Given the description of an element on the screen output the (x, y) to click on. 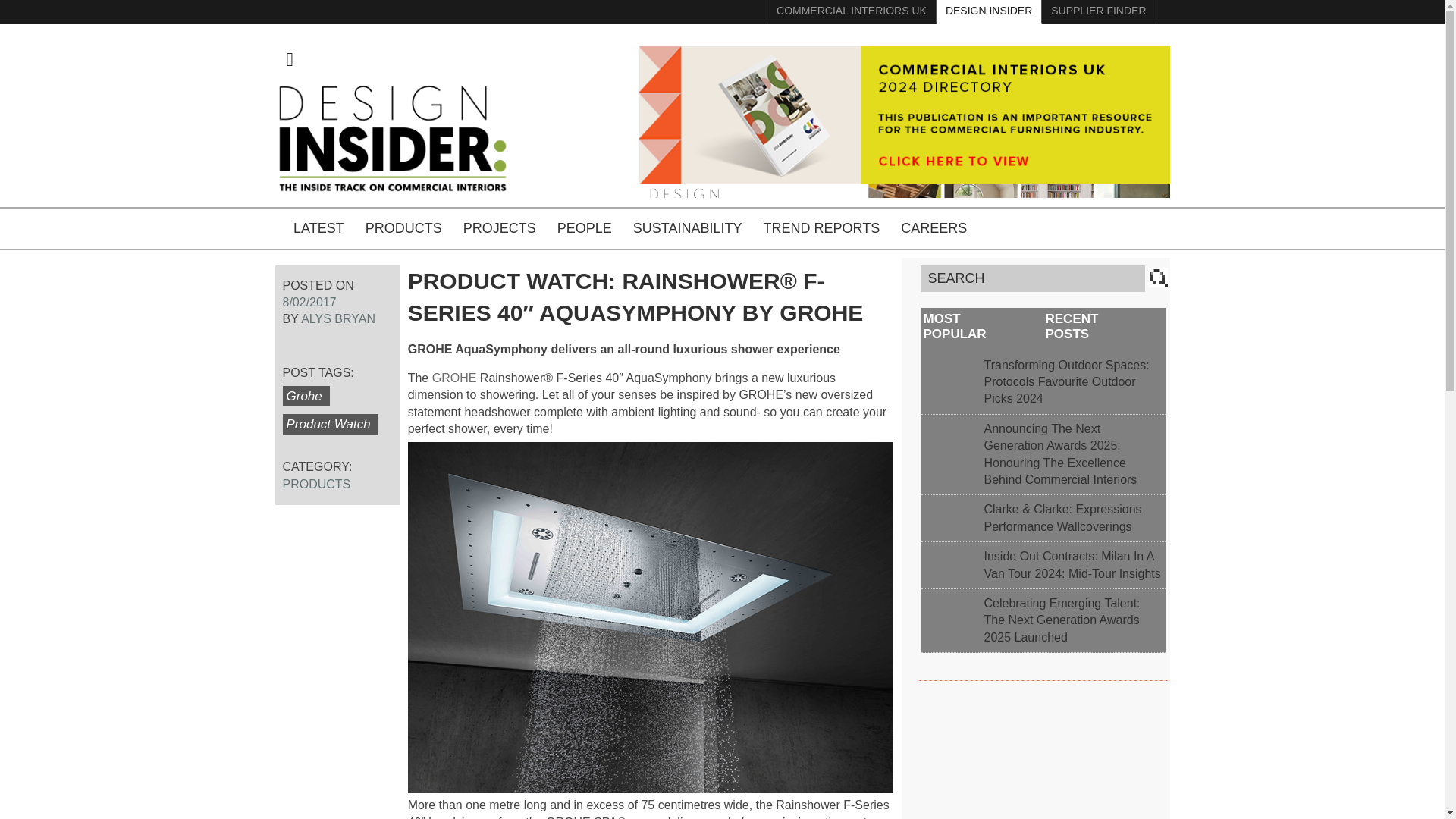
SUSTAINABILITY (686, 228)
Posts by Alys Bryan (338, 318)
Grohe (305, 396)
PROJECTS (498, 228)
ALYS BRYAN (338, 318)
SUPPLIER FINDER (1121, 228)
DESIGN INSIDER (989, 11)
PEOPLE (583, 228)
PRODUCTS (316, 483)
CAREERS (932, 228)
